Given the description of an element on the screen output the (x, y) to click on. 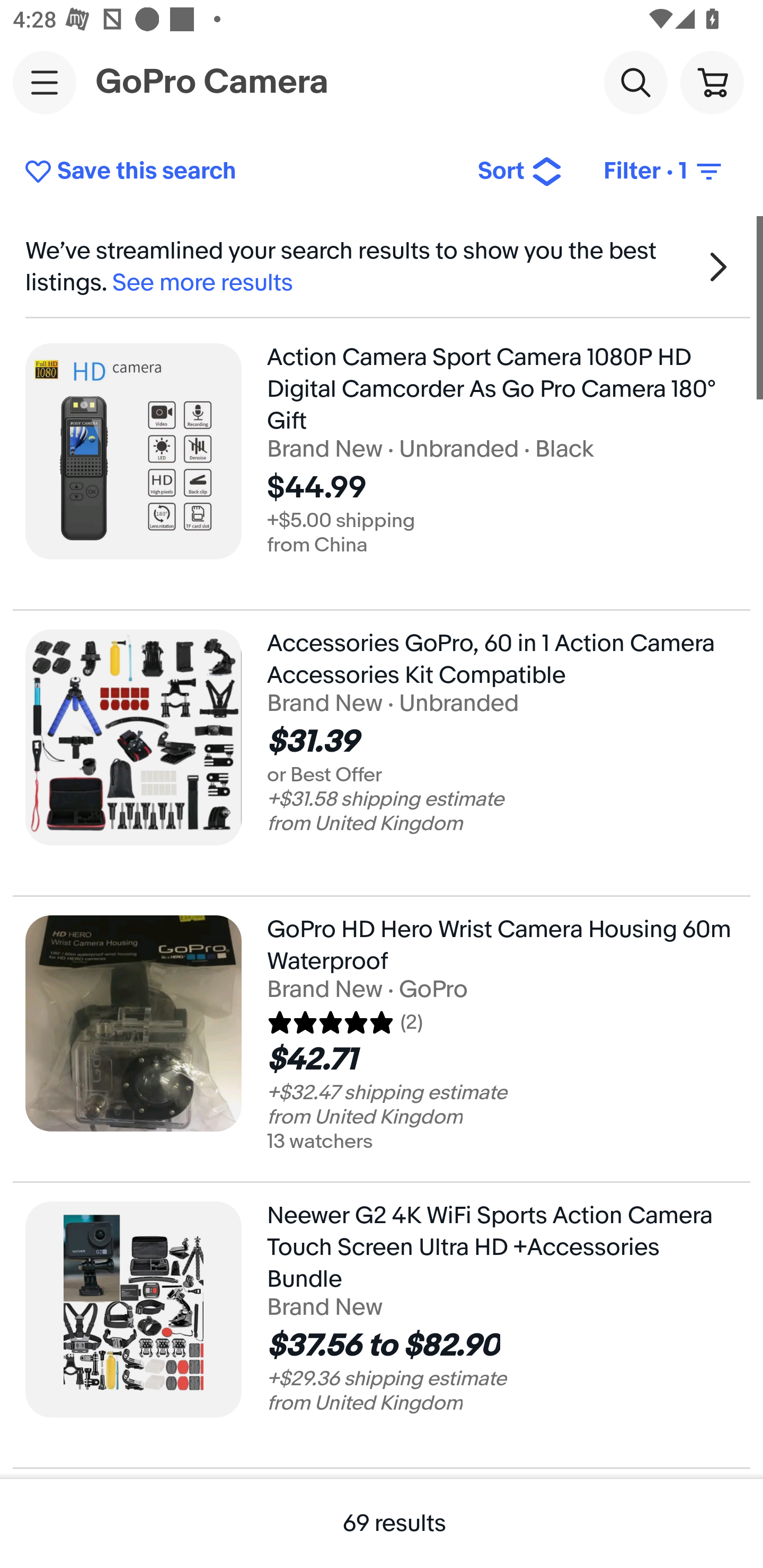
Main navigation, open (44, 82)
Search (635, 81)
Cart button shopping cart (711, 81)
Save this search (237, 171)
Sort (520, 171)
Filter • 1 Filter (1 applied) (663, 171)
